Given the description of an element on the screen output the (x, y) to click on. 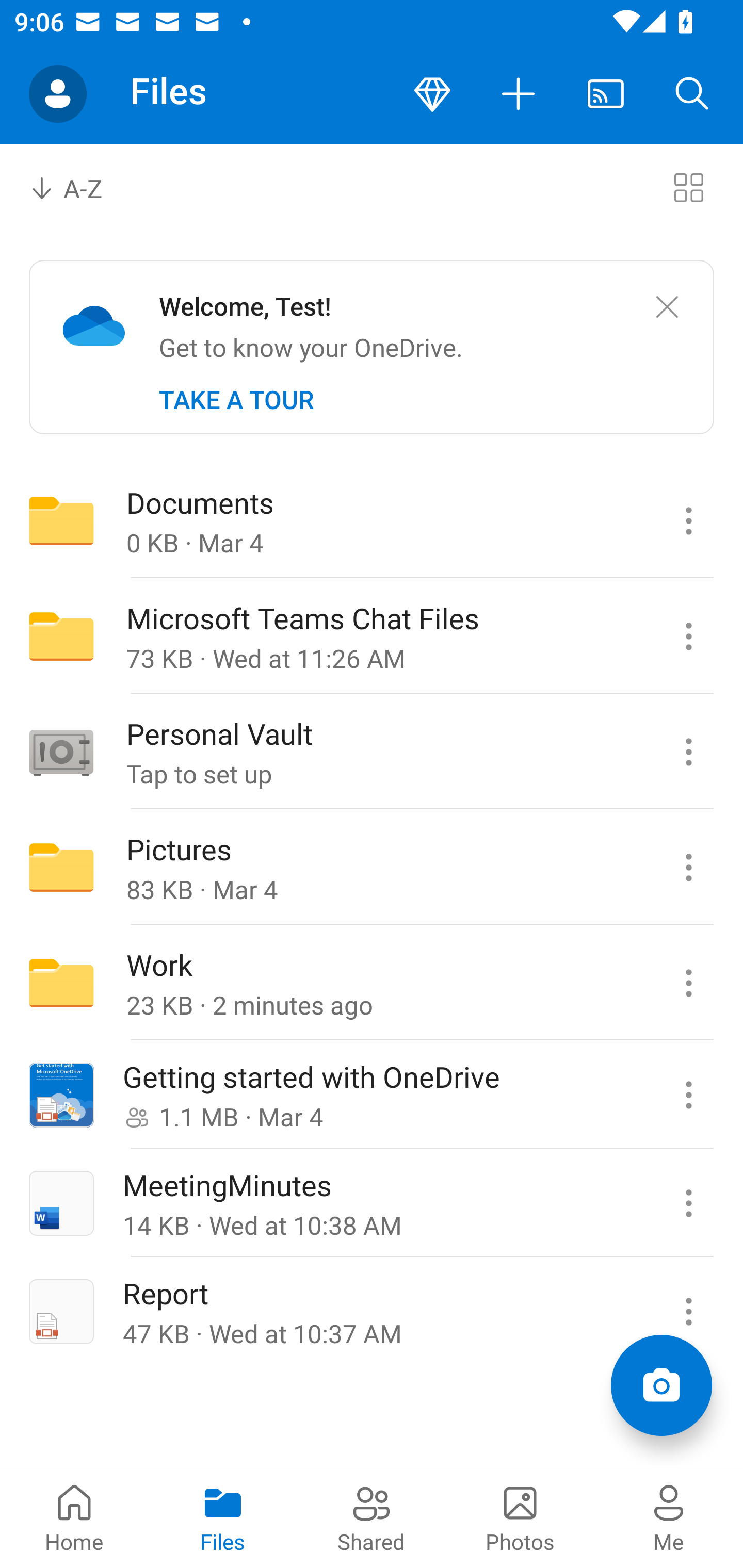
Account switcher (57, 93)
Cast. Disconnected (605, 93)
Premium button (432, 93)
More actions button (518, 93)
Search button (692, 93)
A-Z Sort by combo box, sort by name, A to Z (80, 187)
Switch to tiles view (688, 187)
Close (667, 307)
TAKE A TOUR (236, 399)
Folder Documents 0 KB · Mar 4 Documents commands (371, 520)
Documents commands (688, 520)
Microsoft Teams Chat Files commands (688, 636)
Personal Vault commands (688, 751)
Folder Pictures 83 KB · Mar 4 Pictures commands (371, 867)
Pictures commands (688, 867)
Folder Work 23 KB · 2 minutes ago Work commands (371, 983)
Work commands (688, 983)
Getting started with OneDrive commands (688, 1095)
MeetingMinutes commands (688, 1203)
Report commands (688, 1311)
Add items Scan (660, 1385)
Home pivot Home (74, 1517)
Shared pivot Shared (371, 1517)
Photos pivot Photos (519, 1517)
Me pivot Me (668, 1517)
